Given the description of an element on the screen output the (x, y) to click on. 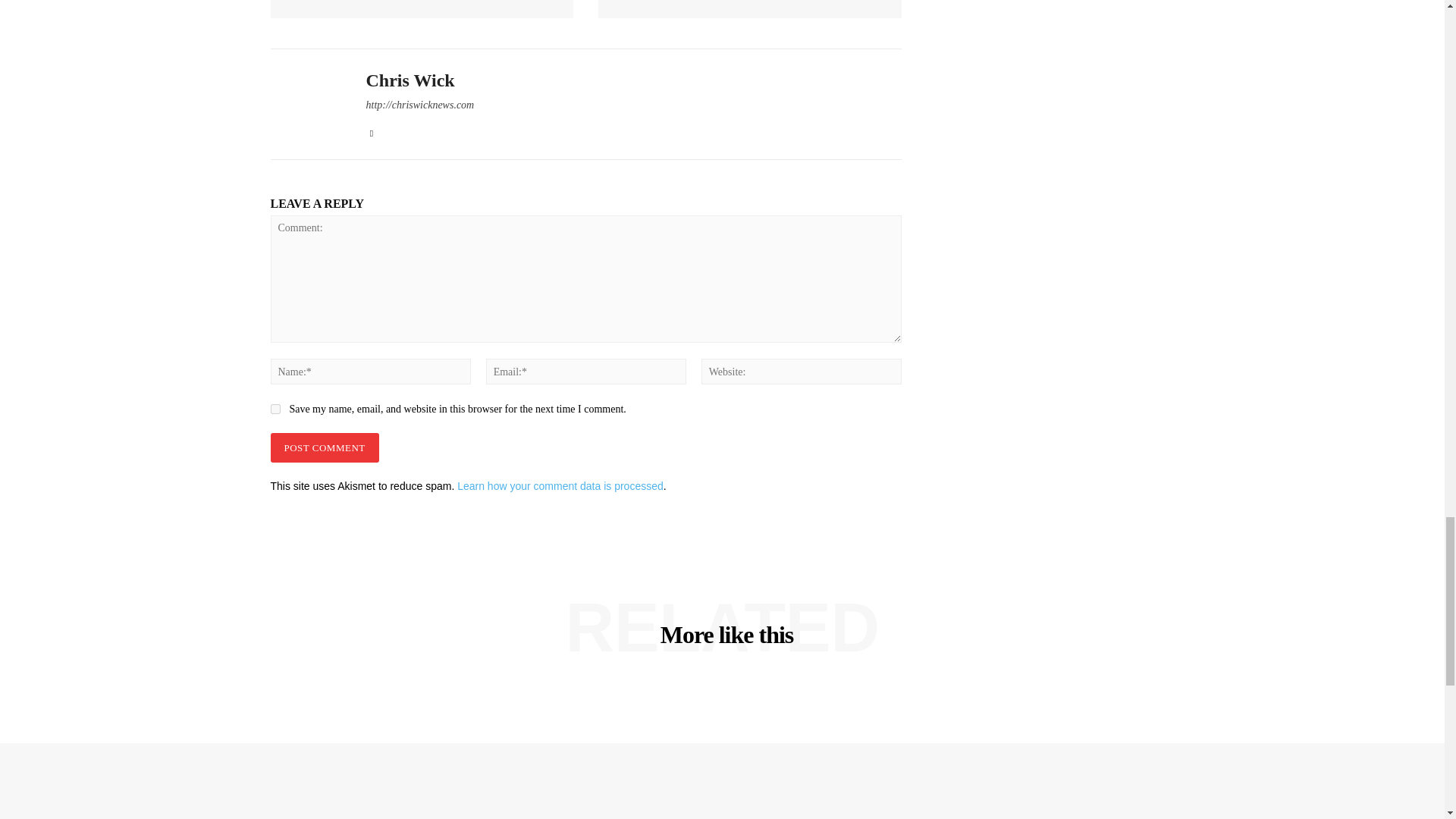
Post Comment (323, 447)
yes (274, 409)
